Given the description of an element on the screen output the (x, y) to click on. 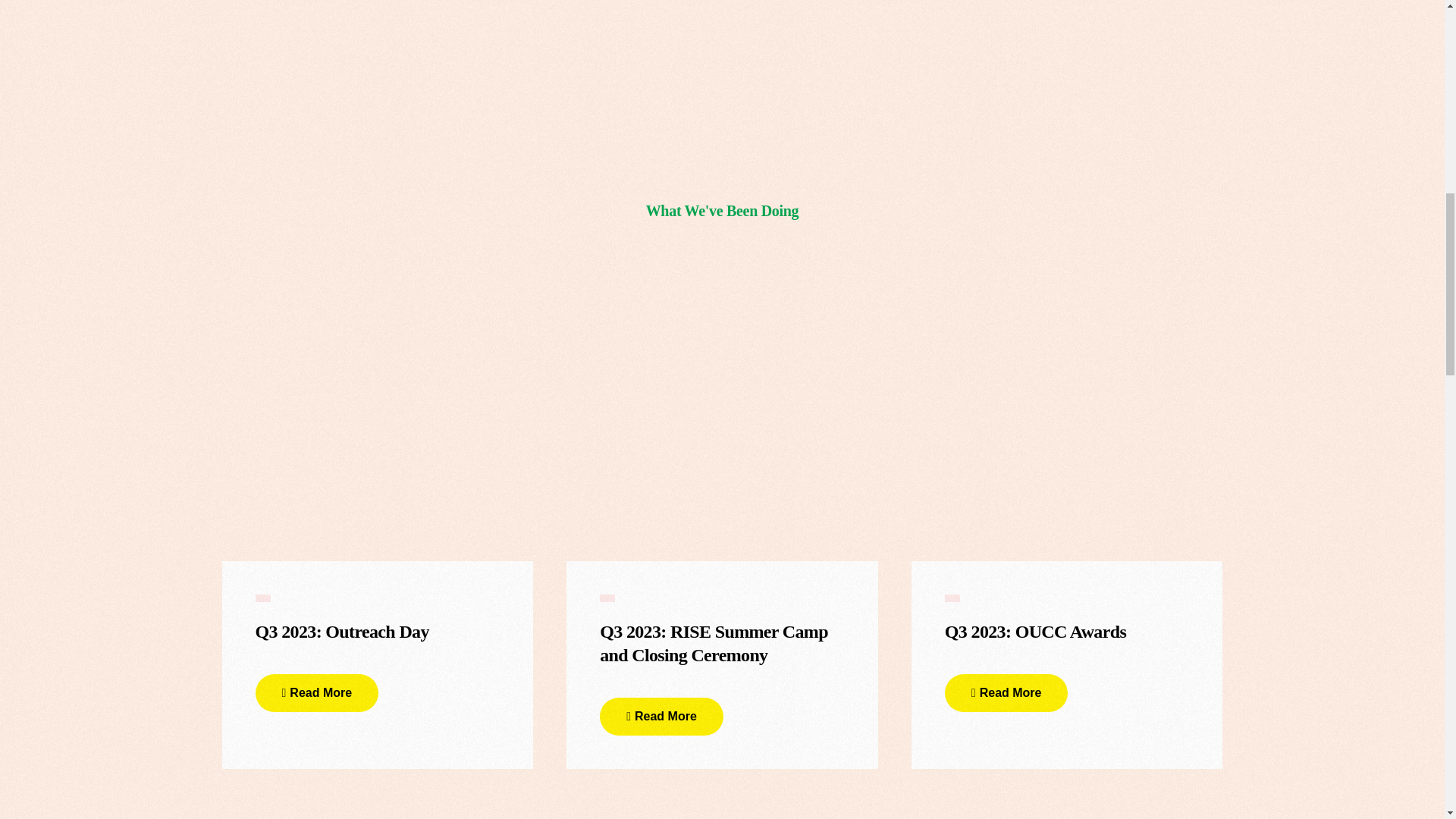
Read More (316, 692)
Q3 2023: OUCC Awards (1034, 622)
Read More (661, 716)
View Post:Q3 2023: Outreach Day (341, 622)
View Post:Q3 2023: Outreach Day (376, 472)
Q3 2023: RISE Summer Camp and Closing Ceremony (721, 634)
View Post:Q3 2023: RISE Summer Camp and Closing Ceremony (721, 634)
Q3 2023: Outreach Day (341, 622)
View Post:Q3 2023: RISE Summer Camp and Closing Ceremony (721, 472)
